Given the description of an element on the screen output the (x, y) to click on. 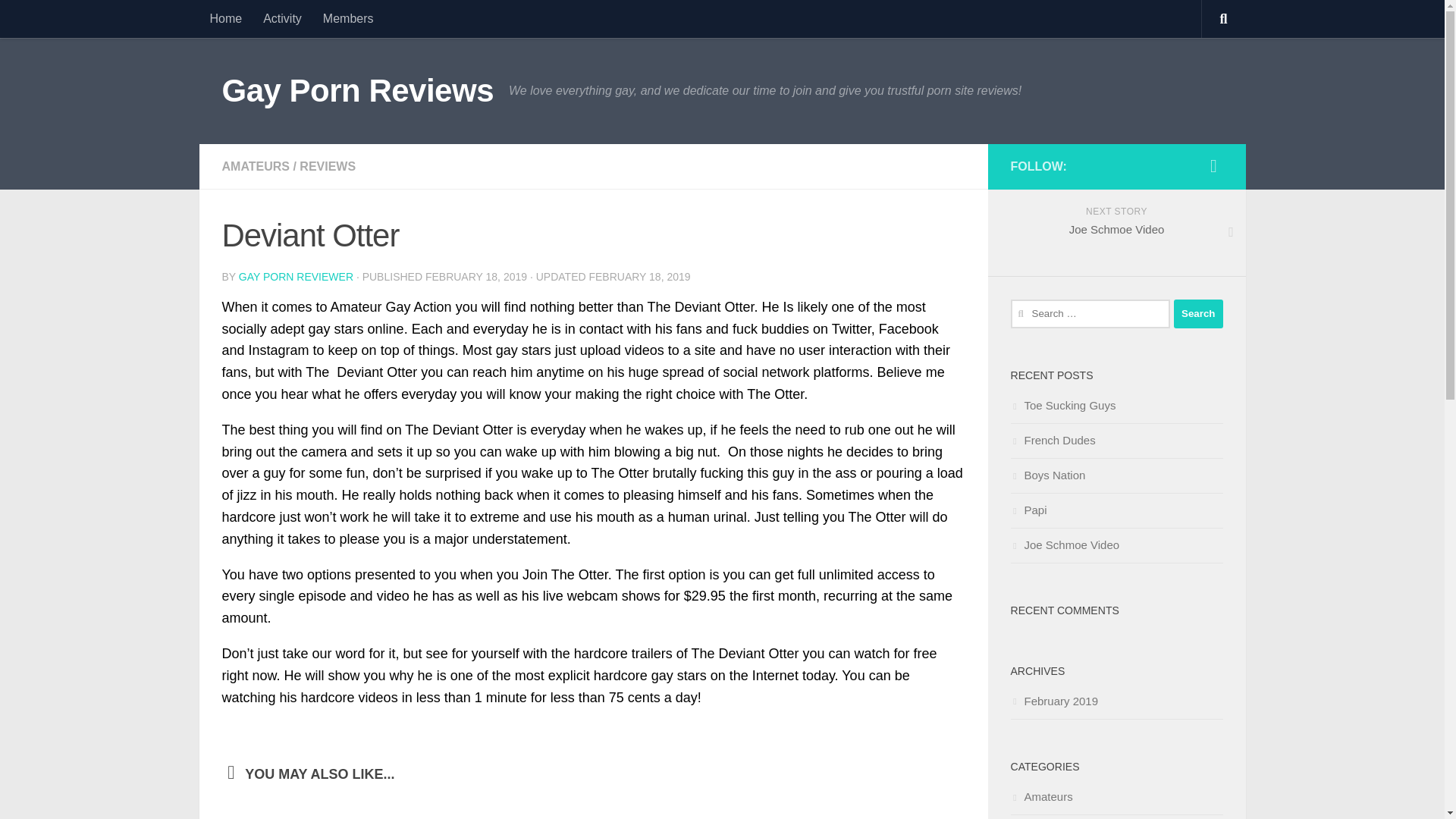
Members (348, 18)
Home (224, 18)
REVIEWS (327, 165)
GAY PORN REVIEWER (295, 276)
Posts by Gay Porn Reviewer (295, 276)
Toe Sucking Guys (1062, 404)
Gay Porn Reviews (357, 90)
Joe Schmoe Video (1064, 544)
Skip to content (63, 20)
French Dudes (1052, 440)
Papi (1028, 509)
Search (1198, 313)
AMATEURS (254, 165)
Search (1198, 313)
Amateurs (1040, 796)
